Given the description of an element on the screen output the (x, y) to click on. 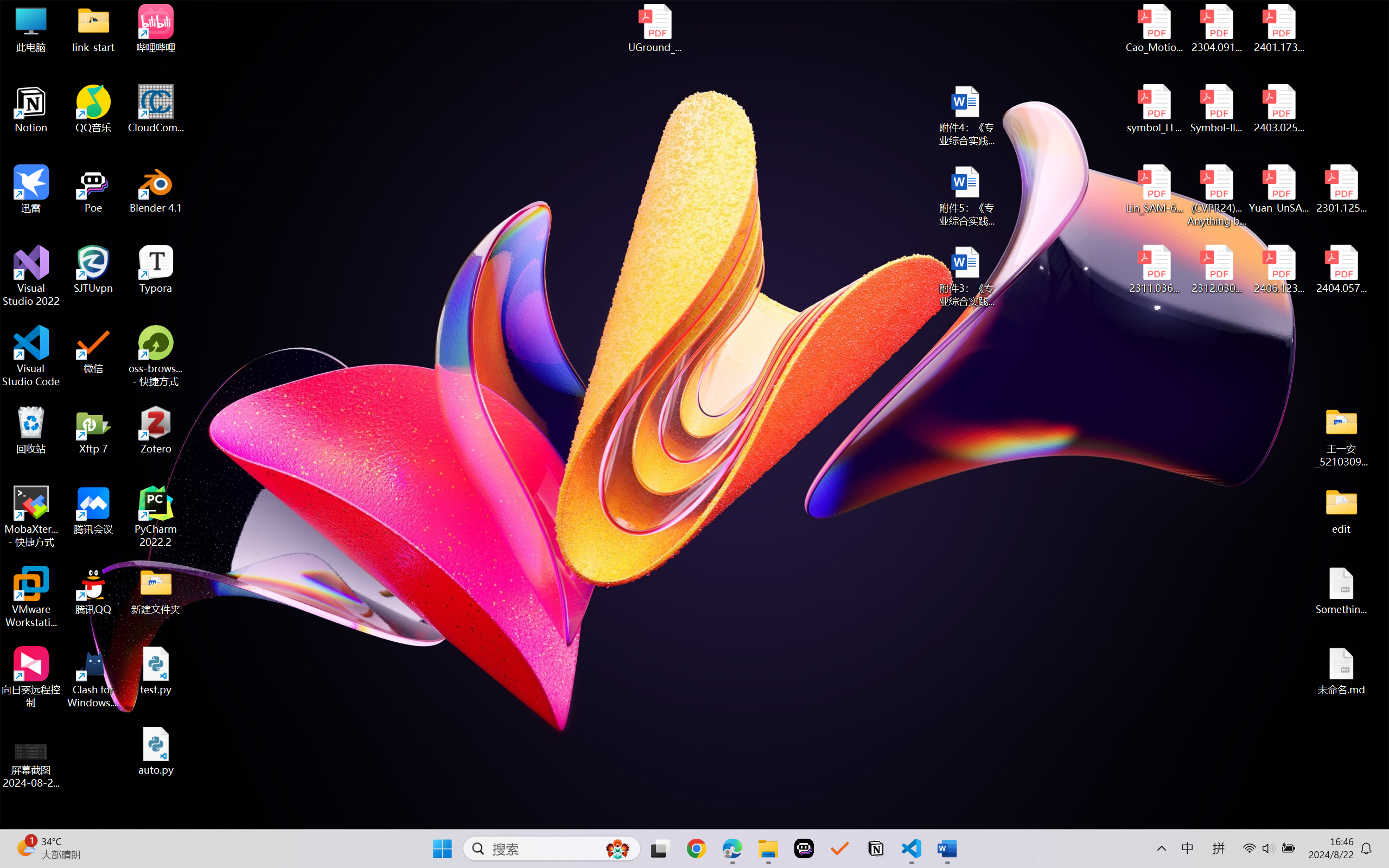
2401.17399v1.pdf (1278, 28)
PyCharm 2022.2 (156, 516)
2311.03658v2.pdf (1154, 269)
